Given the description of an element on the screen output the (x, y) to click on. 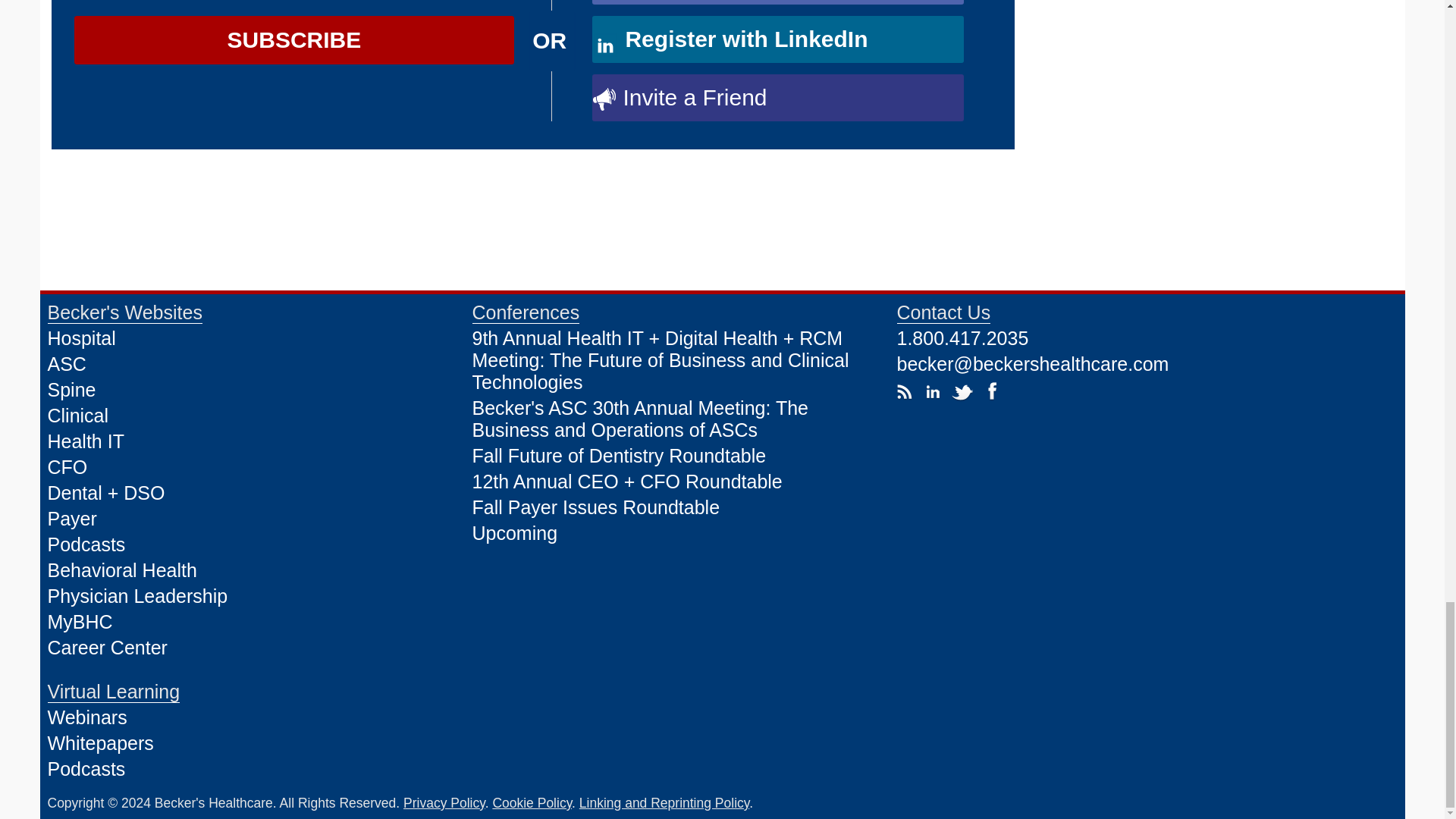
SUBSCRIBE (294, 39)
